Given the description of an element on the screen output the (x, y) to click on. 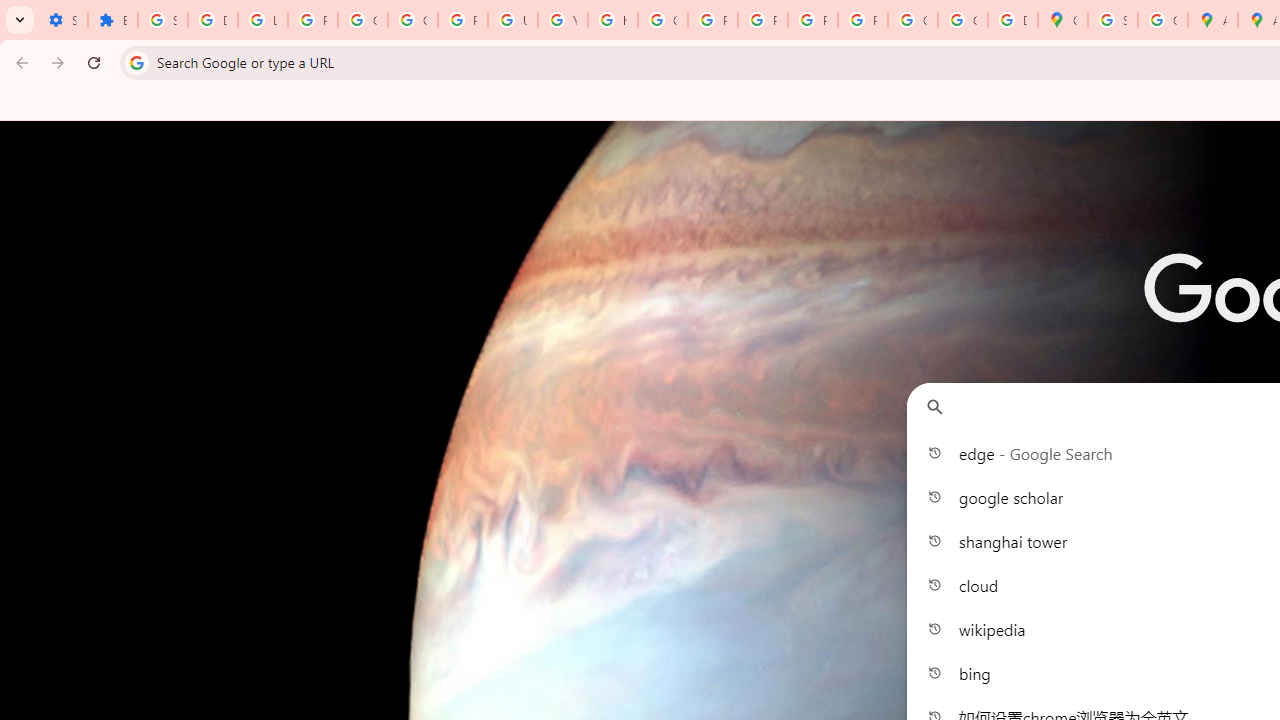
Sign in - Google Accounts (1112, 20)
Settings - On startup (62, 20)
